Given the description of an element on the screen output the (x, y) to click on. 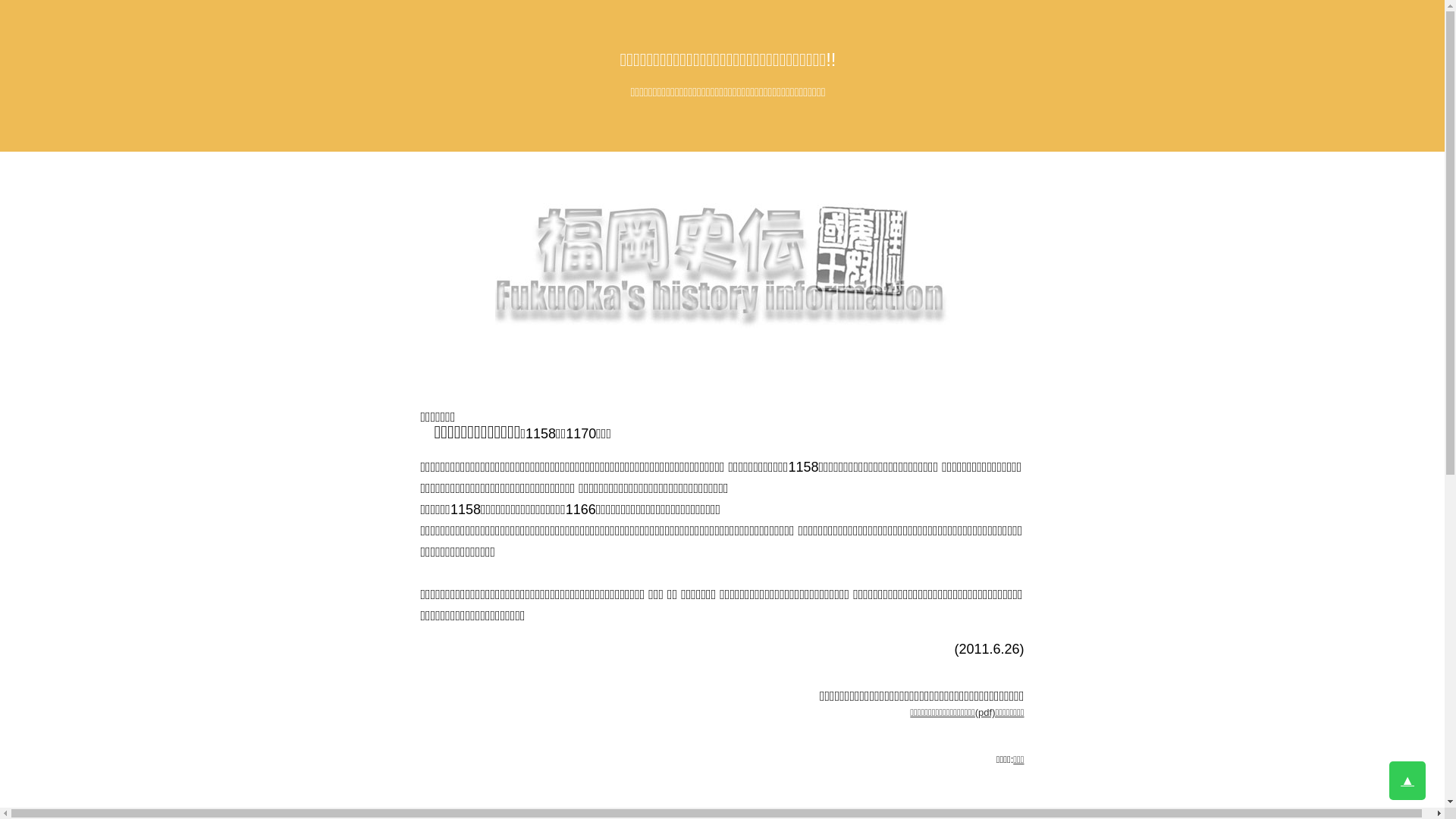
Mousegallery Element type: hover (721, 262)
